Given the description of an element on the screen output the (x, y) to click on. 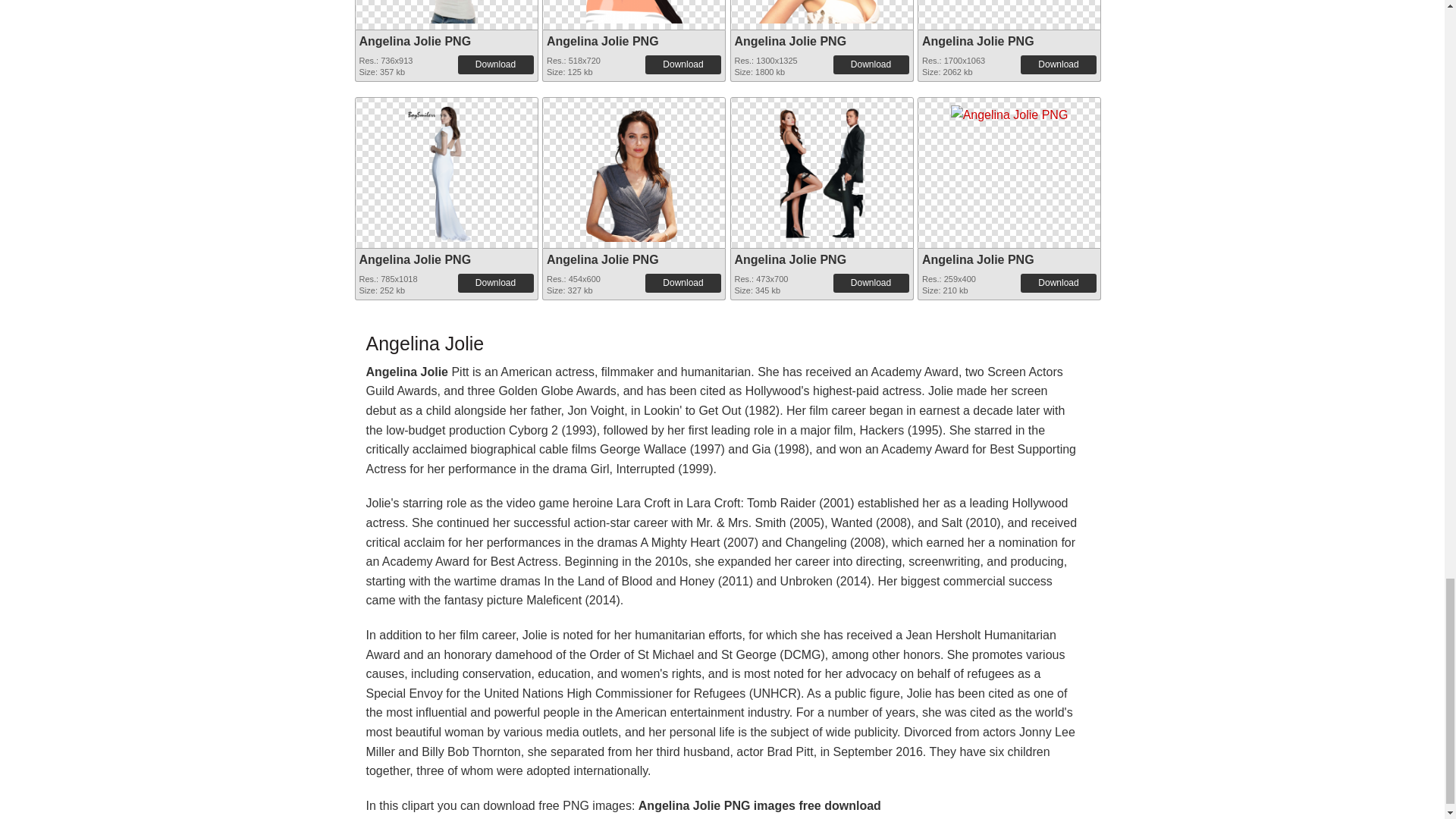
Angelina Jolie PNG (415, 41)
Angelina Jolie PNG (789, 41)
Angelina Jolie PNG (633, 11)
Angelina Jolie PNG (633, 168)
Angelina Jolie PNG (603, 41)
Download (496, 64)
Angelina Jolie PNG (977, 41)
Download (870, 64)
Angelina Jolie PNG (821, 11)
Angelina Jolie PNG (446, 168)
Download (1058, 64)
Angelina Jolie PNG (445, 11)
Download (682, 64)
